Given the description of an element on the screen output the (x, y) to click on. 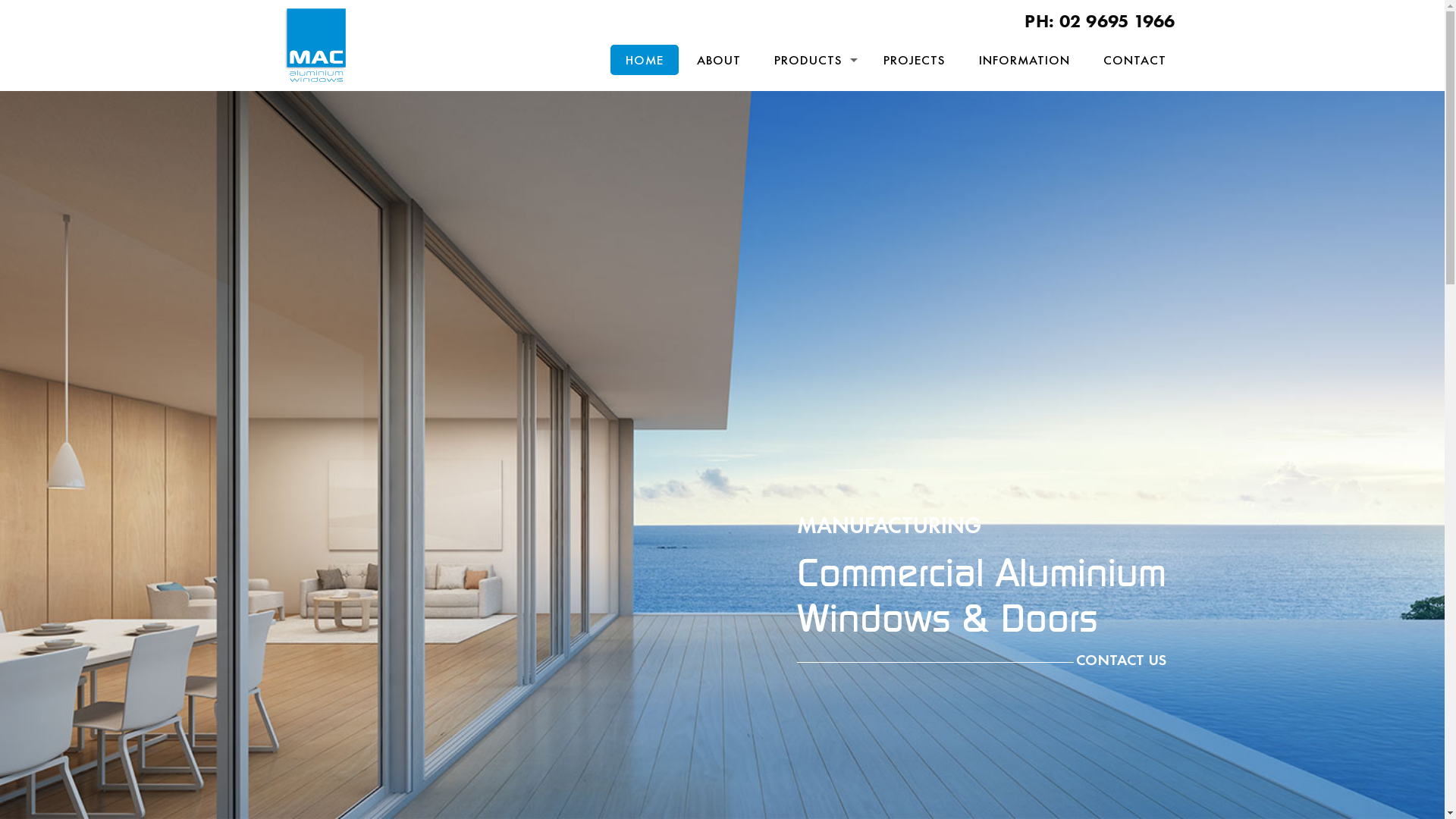
PH: 02 9695 1966 Element type: text (1099, 20)
CONTACT Element type: text (1134, 59)
Mac Windows Element type: hover (314, 45)
PROJECTS Element type: text (914, 59)
CONTACT US Element type: text (981, 661)
PRODUCTS Element type: text (812, 59)
HOME Element type: text (644, 59)
ABOUT Element type: text (718, 59)
INFORMATION Element type: text (1024, 59)
